Given the description of an element on the screen output the (x, y) to click on. 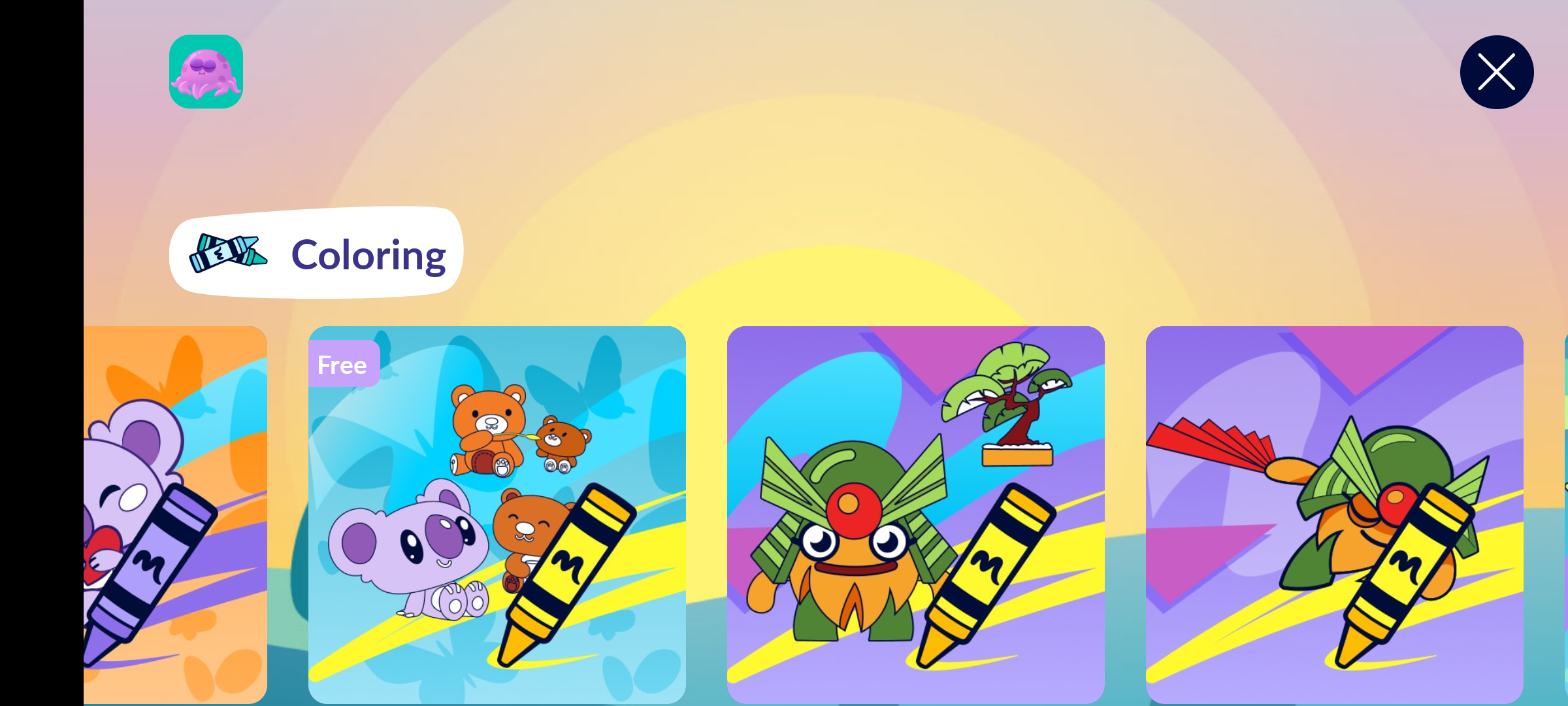
Profile icon (205, 71)
Featured Content Free (497, 514)
Featured Content (916, 514)
Featured Content (1335, 514)
